Given the description of an element on the screen output the (x, y) to click on. 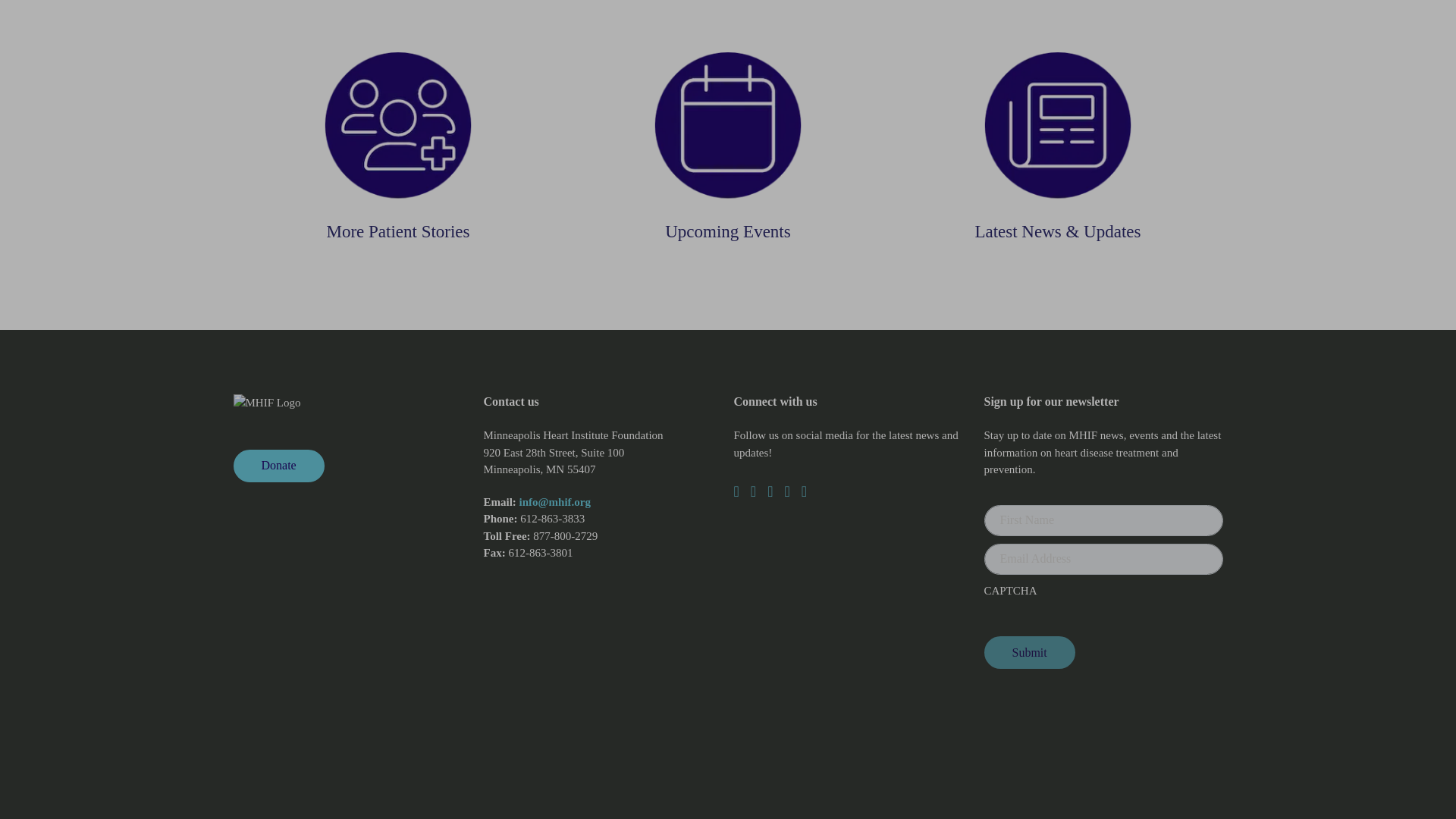
Events (727, 136)
Image (397, 136)
Patient Stories (397, 136)
Image (1057, 136)
Image (727, 136)
